Given the description of an element on the screen output the (x, y) to click on. 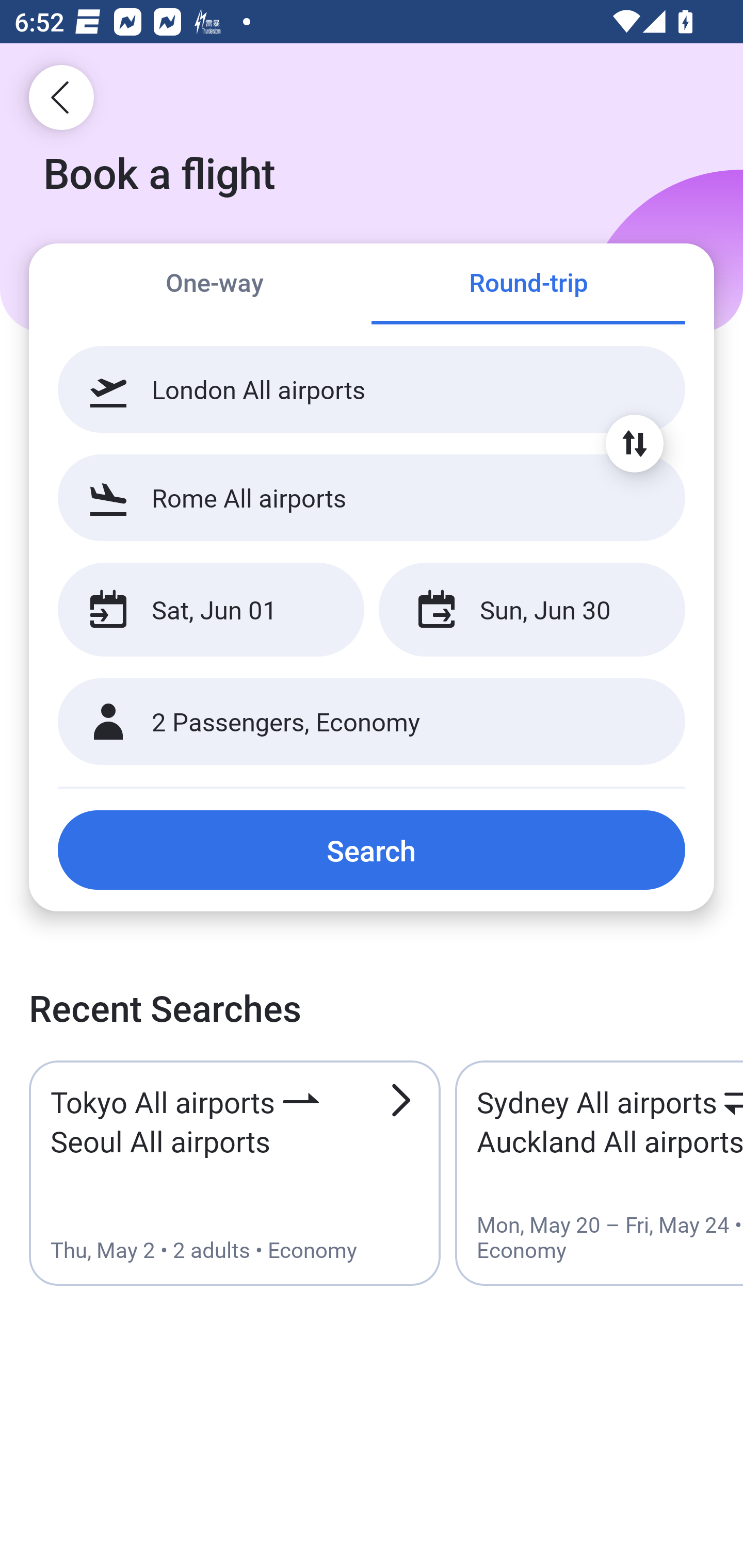
One-way (214, 284)
London All airports (371, 389)
Rome All airports (371, 497)
Sat, Jun 01 (210, 609)
Sun, Jun 30 (531, 609)
2 Passengers, Economy (371, 721)
Search (371, 849)
